Given the description of an element on the screen output the (x, y) to click on. 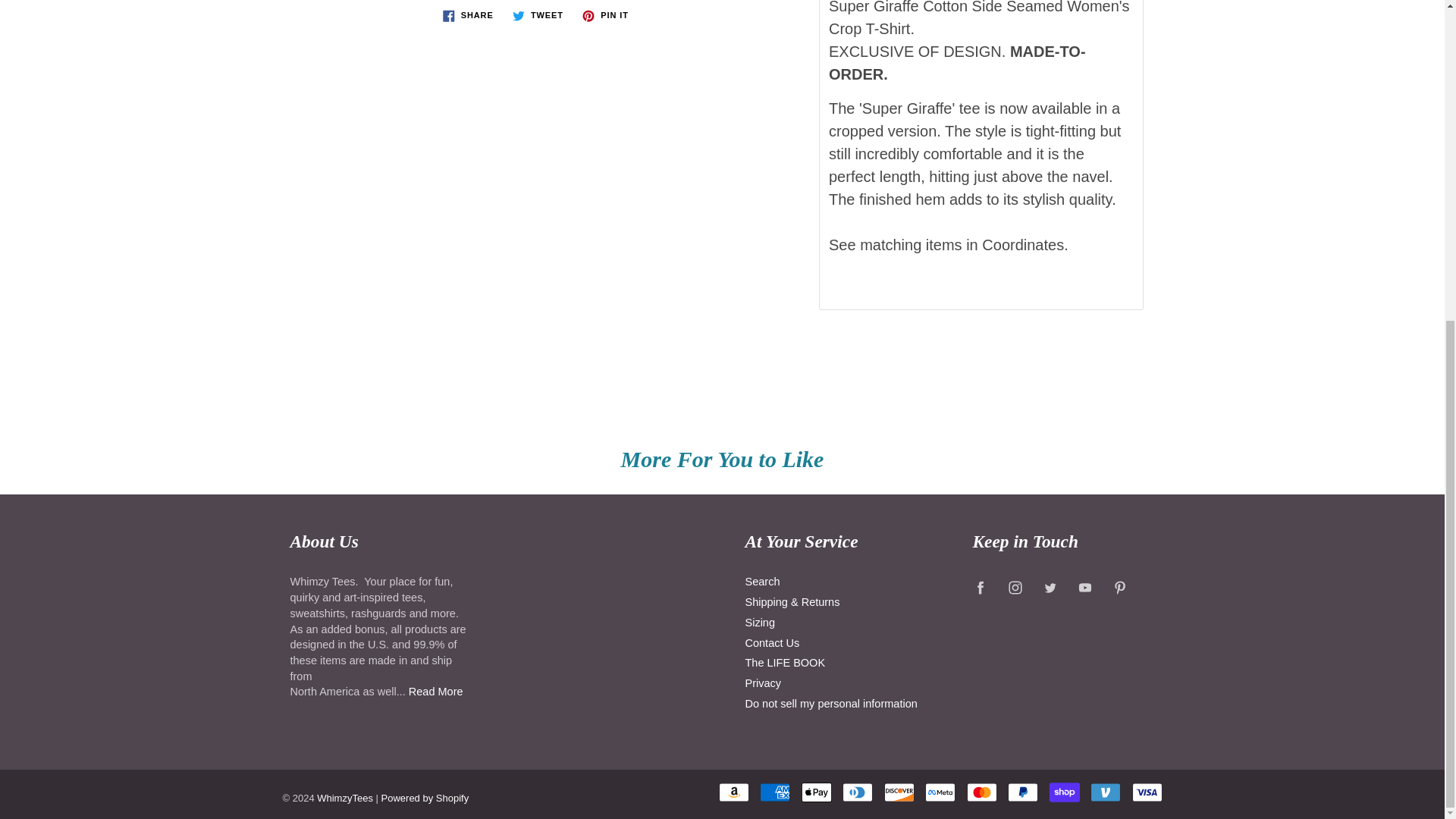
Apple Pay (816, 792)
Amazon (734, 792)
Meta Pay (939, 792)
Discover (898, 792)
Share on Facebook (467, 14)
Tweet on Twitter (537, 14)
Diners Club (857, 792)
Mastercard (981, 792)
American Express (775, 792)
